Given the description of an element on the screen output the (x, y) to click on. 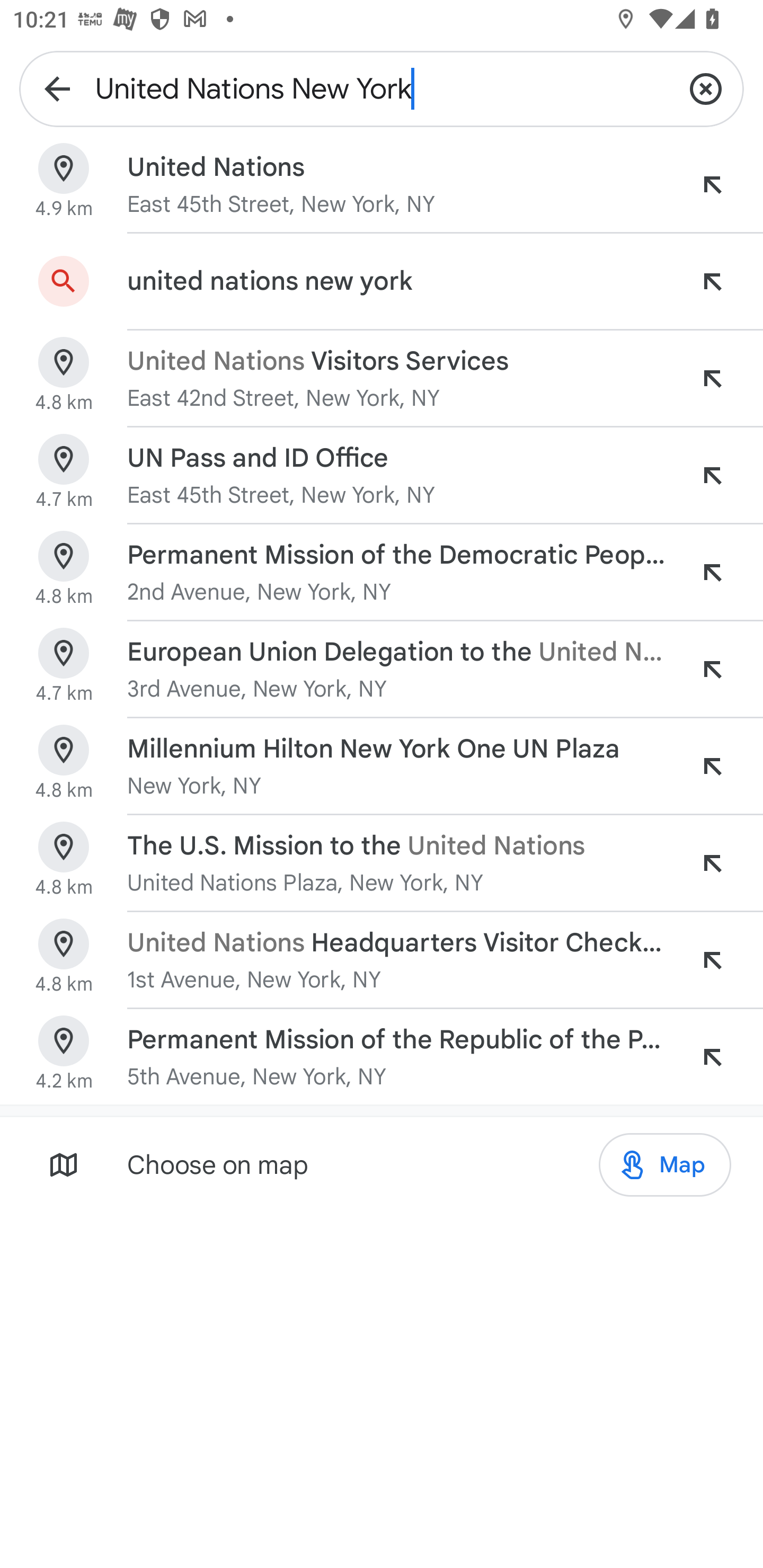
Navigate up (57, 88)
United Nations New York (381, 88)
Clear (705, 88)
Choose on map Map Map Map (381, 1164)
Map Map Map (664, 1164)
